Given the description of an element on the screen output the (x, y) to click on. 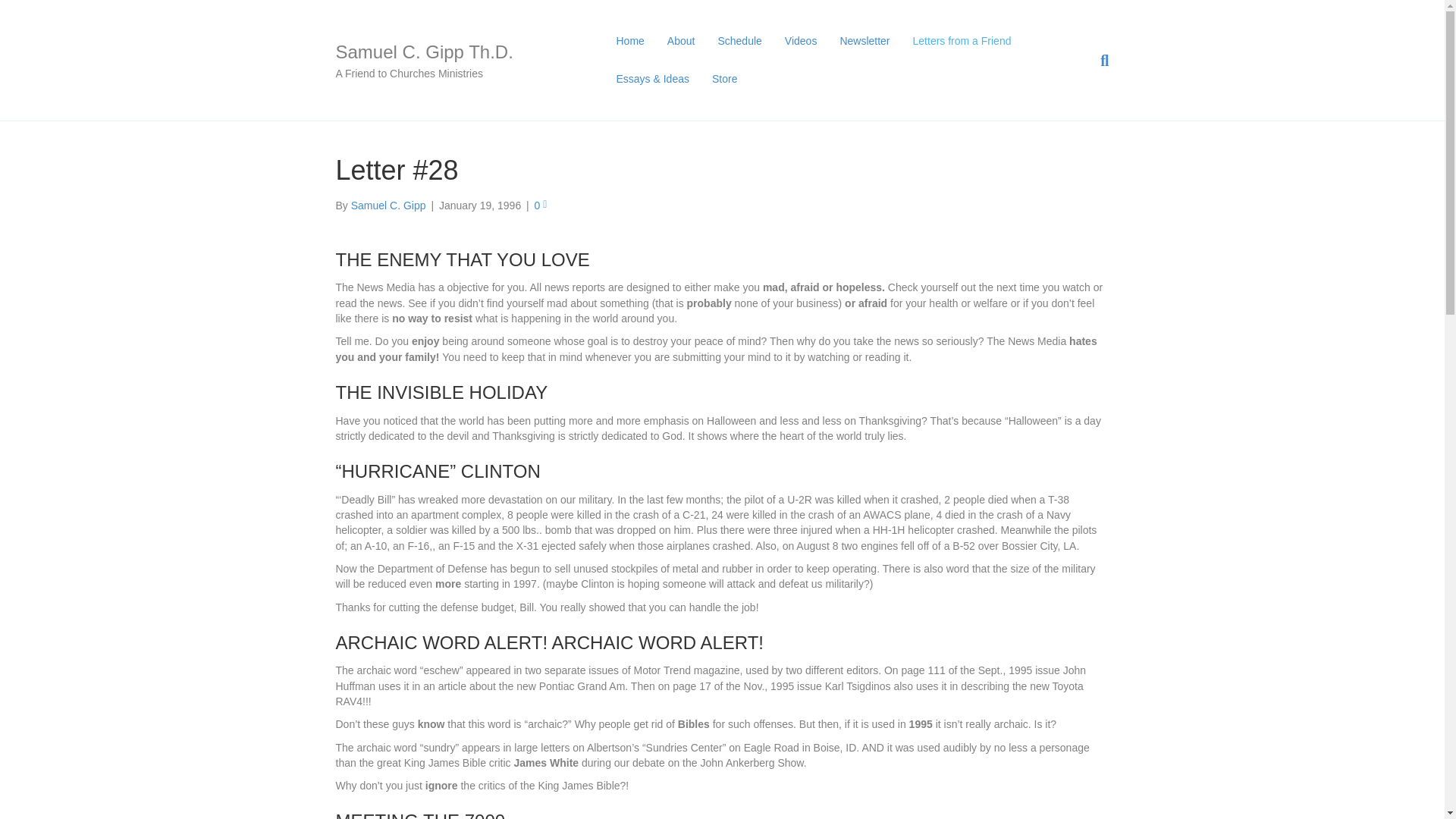
Videos (800, 41)
Newsletter (864, 41)
0 (540, 205)
Samuel C. Gipp (388, 205)
Letters from a Friend (962, 41)
Schedule (739, 41)
About (681, 41)
Store (724, 79)
Home (629, 41)
Samuel C. Gipp Th.D. (457, 52)
